Given the description of an element on the screen output the (x, y) to click on. 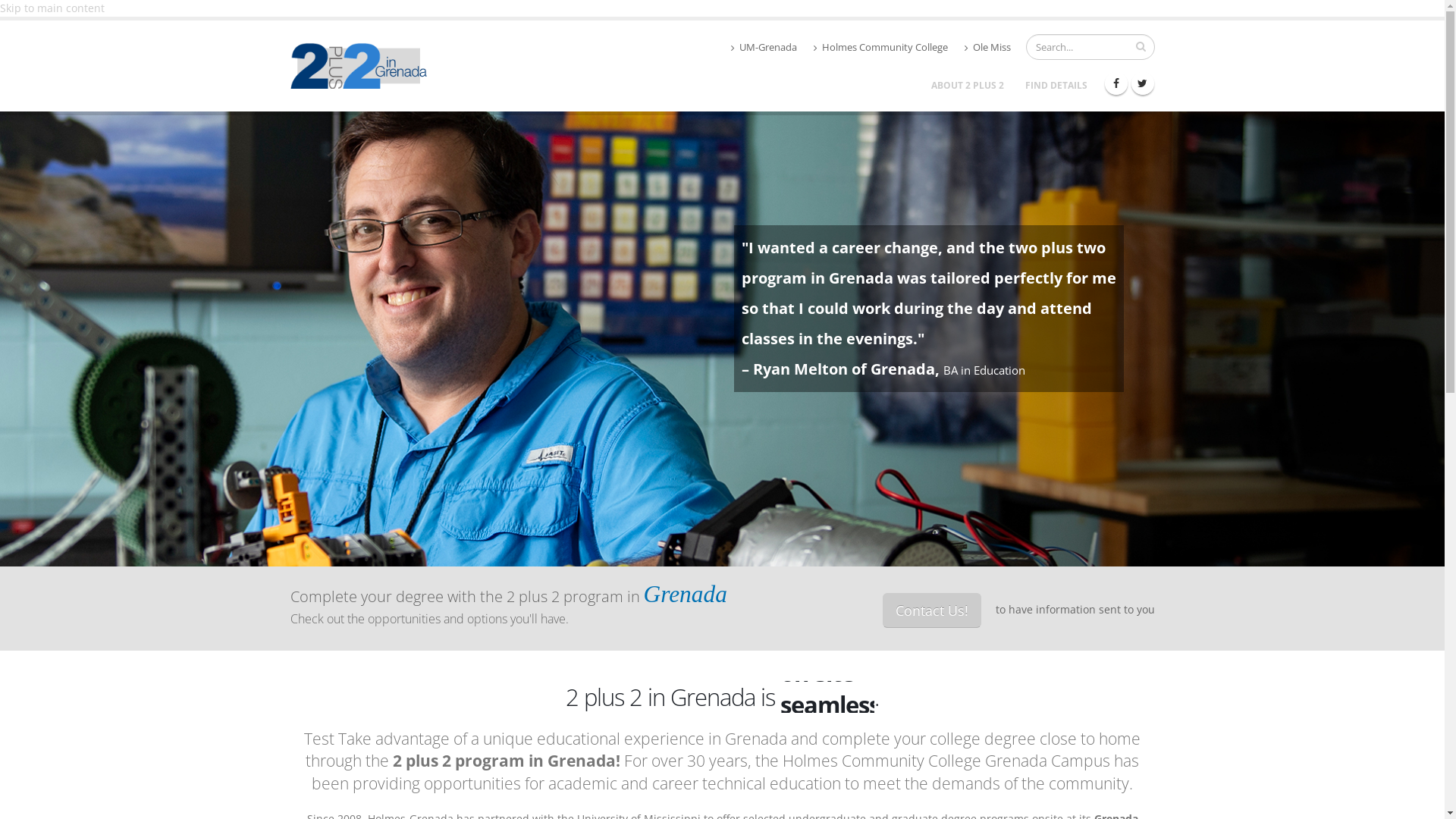
ABOUT 2 PLUS 2 Element type: text (966, 85)
Facebook Element type: text (1115, 83)
UM-Grenada Element type: text (763, 47)
Skip to main content Element type: text (52, 7)
Twitter Element type: text (1142, 83)
Ole Miss Element type: text (987, 47)
menu Element type: text (14, 12)
FIND DETAILS Element type: text (1055, 85)
Holmes Community College Element type: text (879, 47)
Contact Us! Element type: text (931, 610)
search Element type: text (1140, 46)
